Given the description of an element on the screen output the (x, y) to click on. 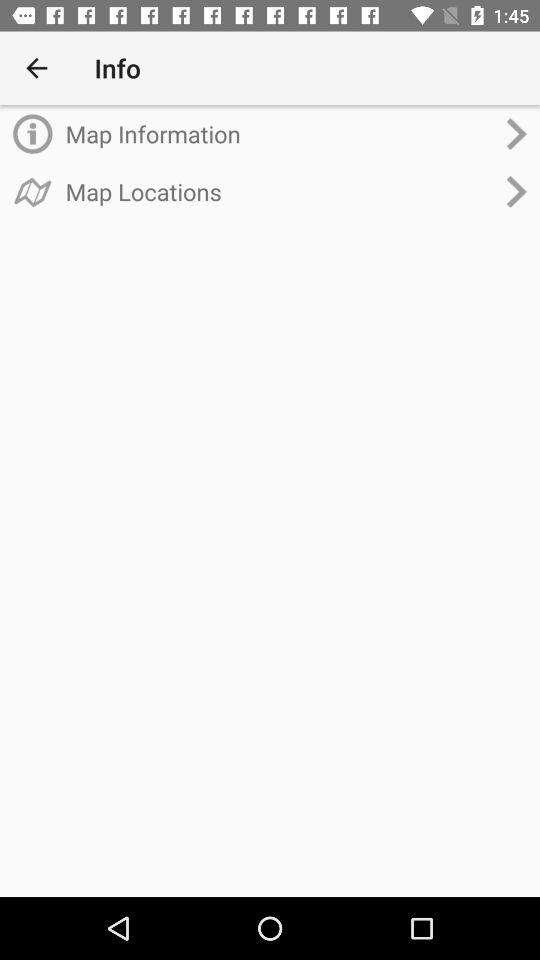
choose the map locations item (279, 191)
